Given the description of an element on the screen output the (x, y) to click on. 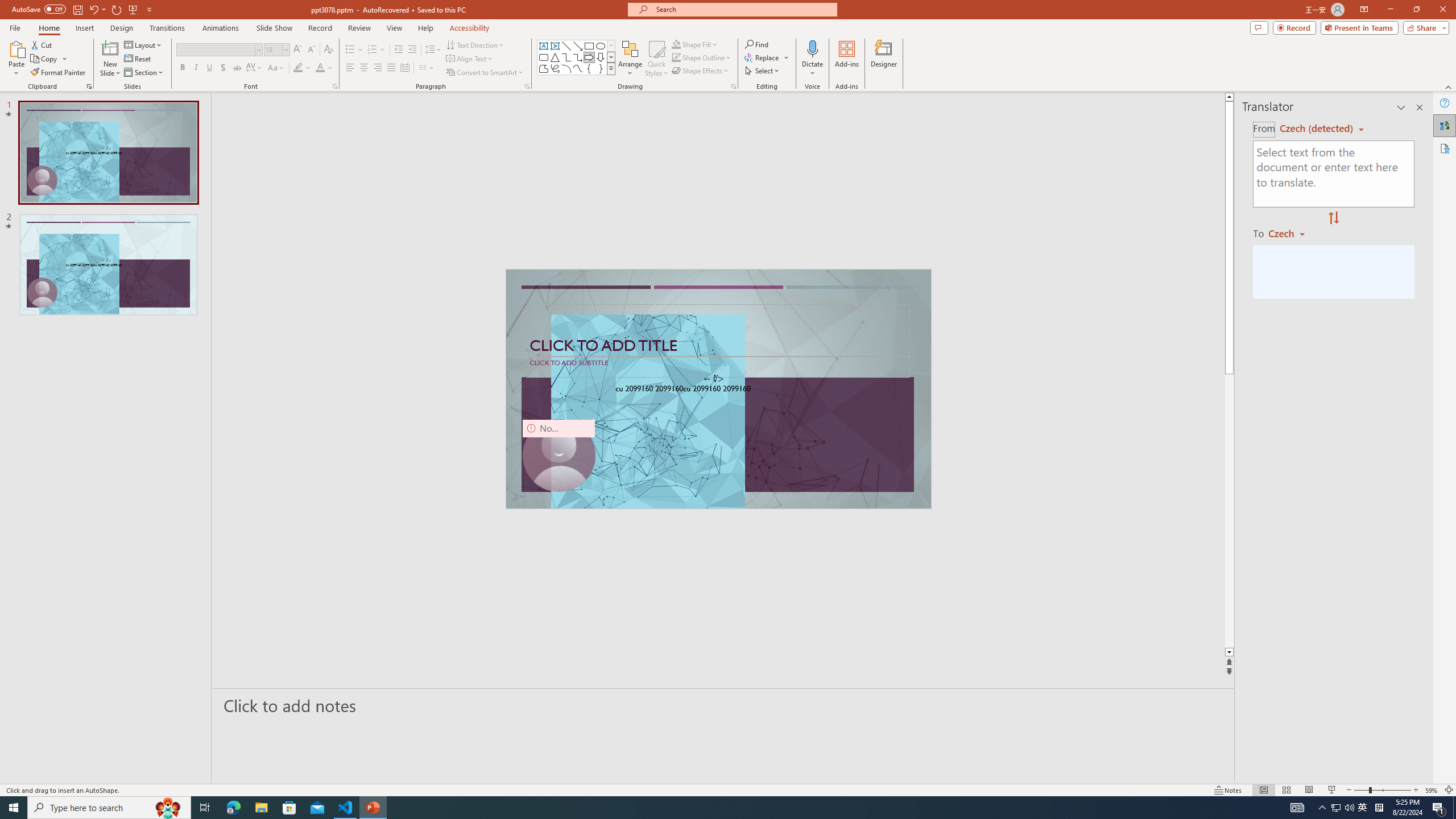
Shape Outline Green, Accent 1 (675, 56)
Align Right (377, 67)
TextBox 61 (717, 389)
